Given the description of an element on the screen output the (x, y) to click on. 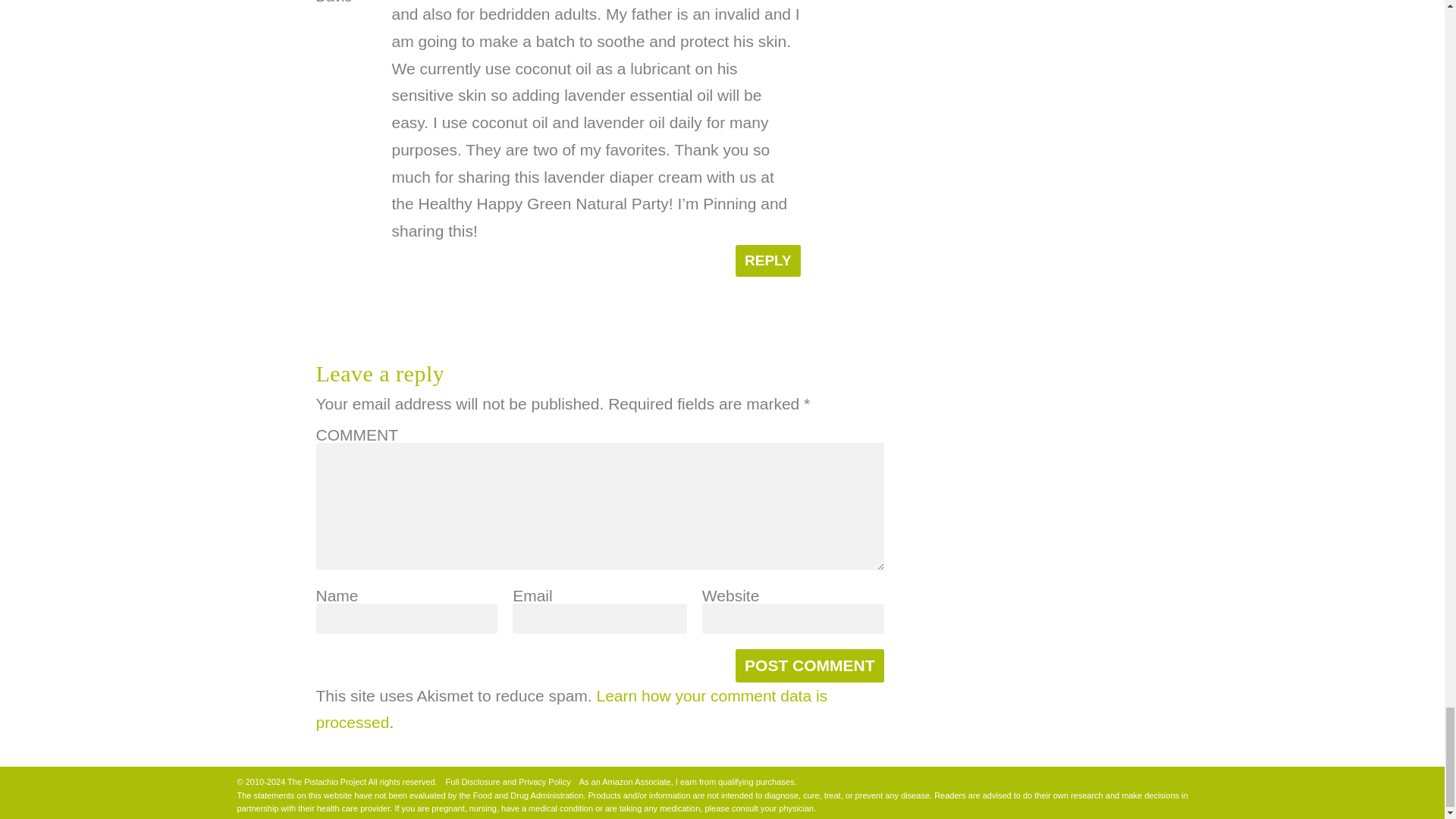
Post Comment (809, 665)
